Given the description of an element on the screen output the (x, y) to click on. 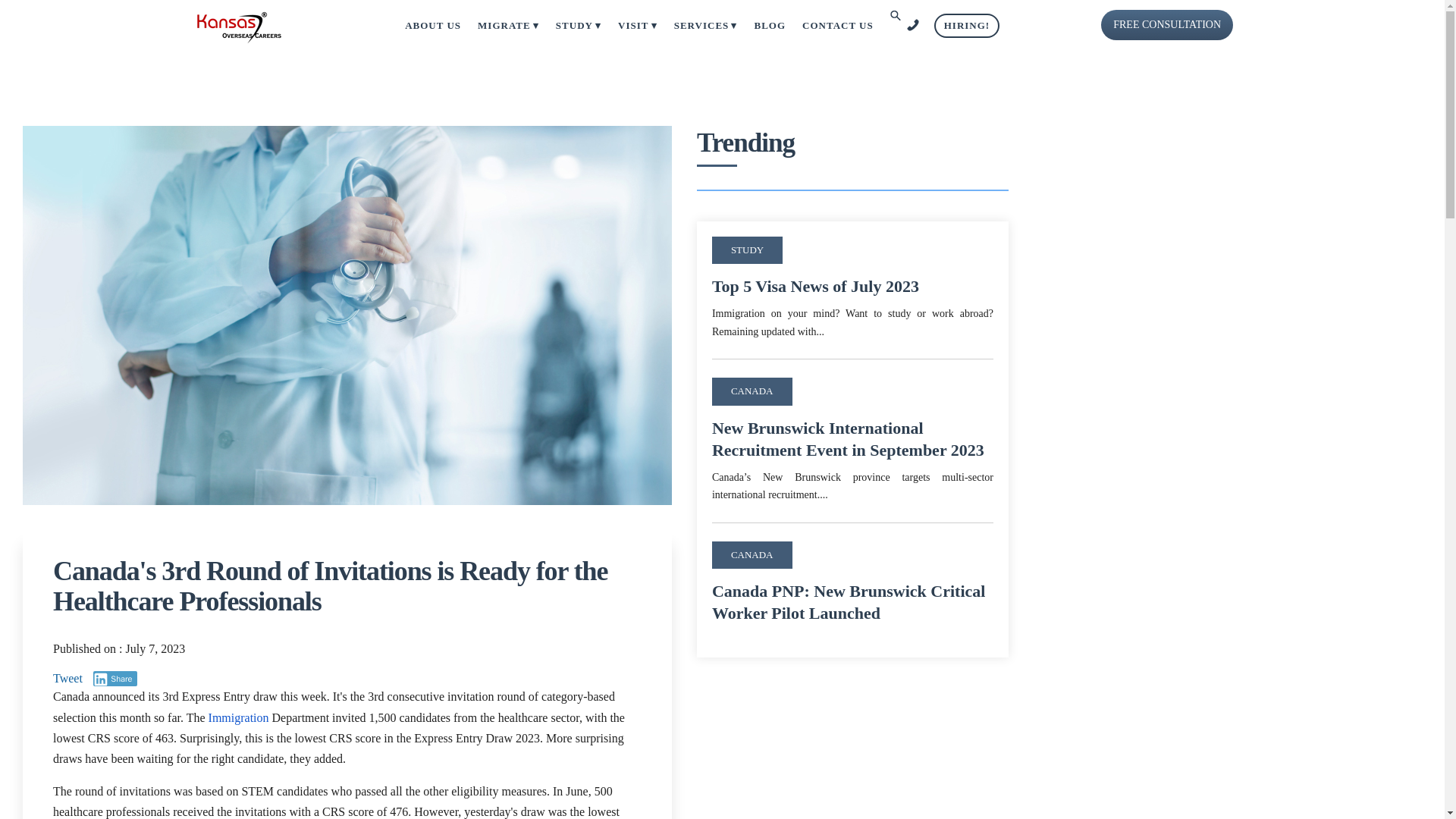
ABOUT US (432, 25)
